Given the description of an element on the screen output the (x, y) to click on. 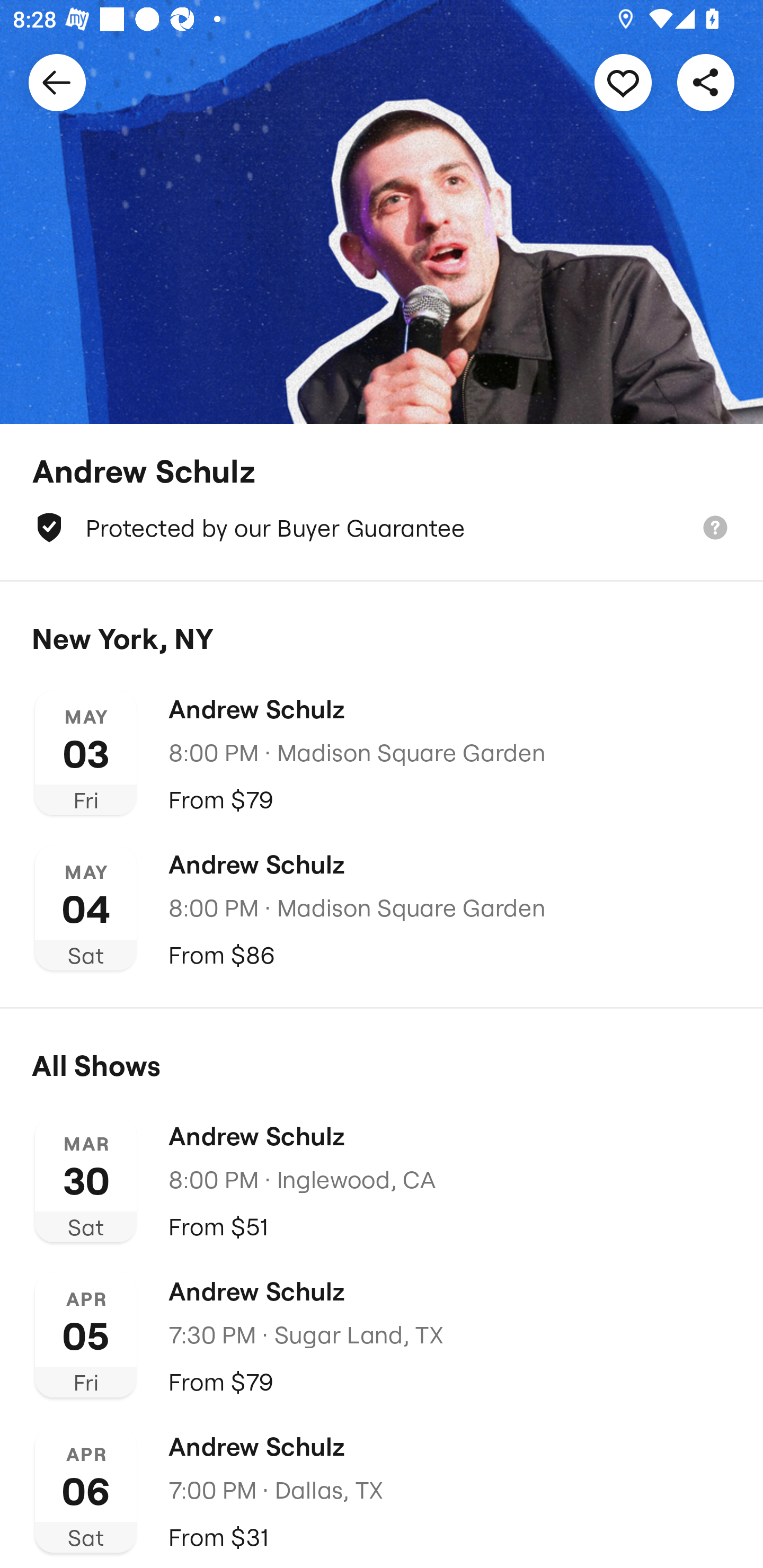
Back (57, 81)
Track this performer (623, 81)
Share this performer (705, 81)
Protected by our Buyer Guarantee Learn more (381, 527)
